Given the description of an element on the screen output the (x, y) to click on. 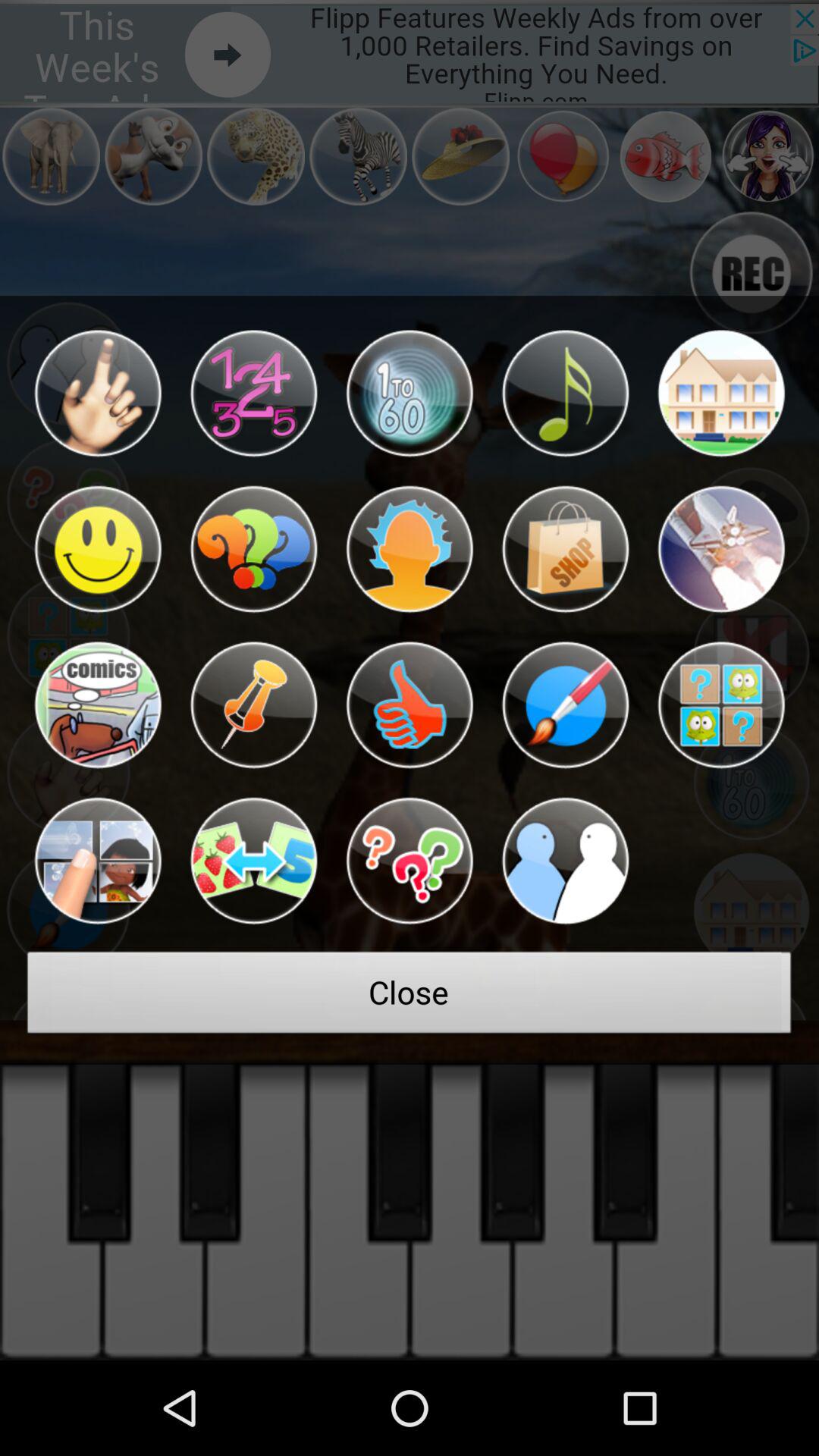
go do rading (721, 393)
